Given the description of an element on the screen output the (x, y) to click on. 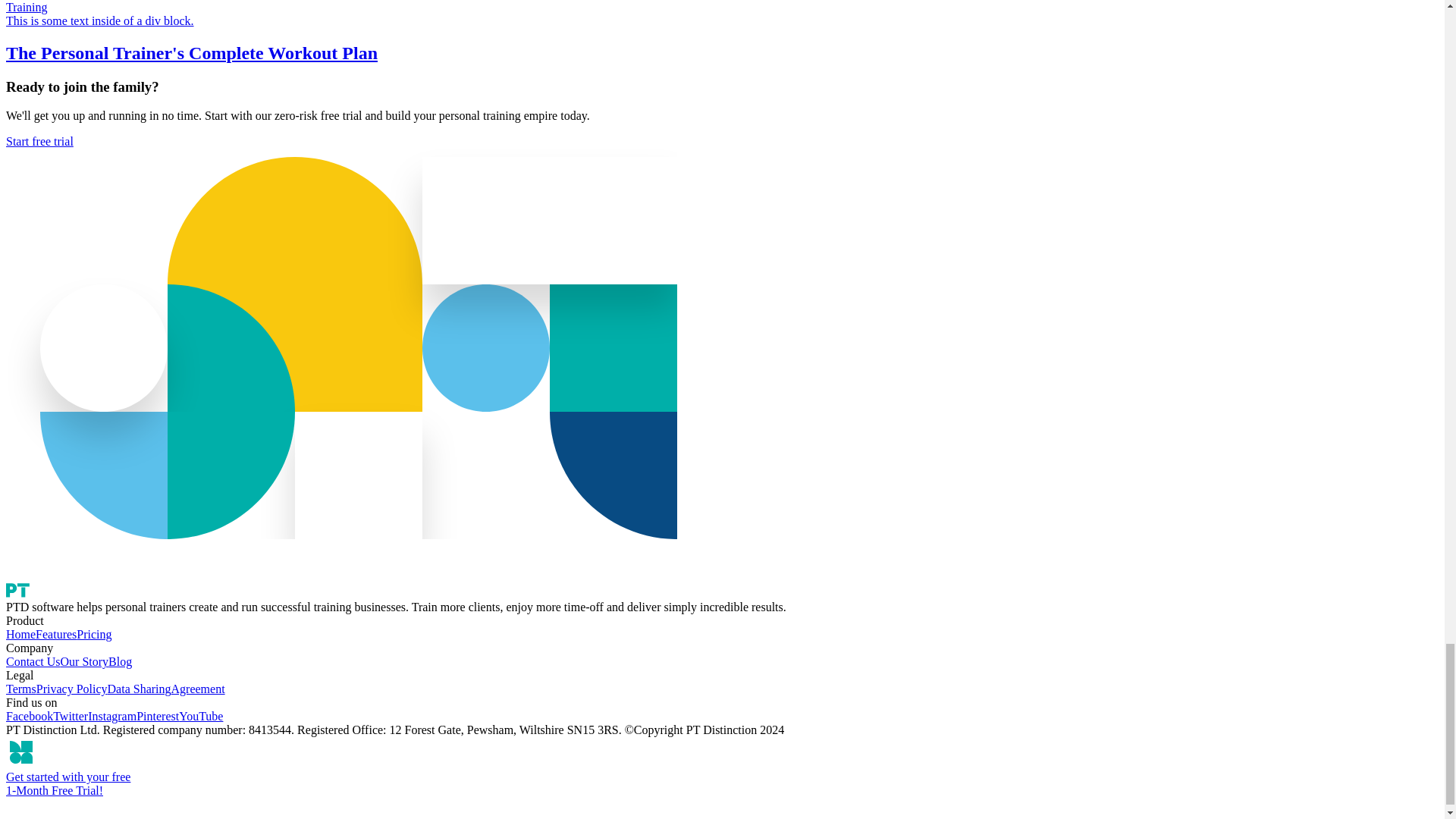
Data Sharing (139, 688)
Blog (119, 661)
Home (19, 634)
Features (55, 634)
Pricing (94, 634)
Contact Us (33, 661)
Our Story (85, 661)
Terms (20, 688)
Start free trial (39, 141)
Privacy Policy (71, 688)
